Given the description of an element on the screen output the (x, y) to click on. 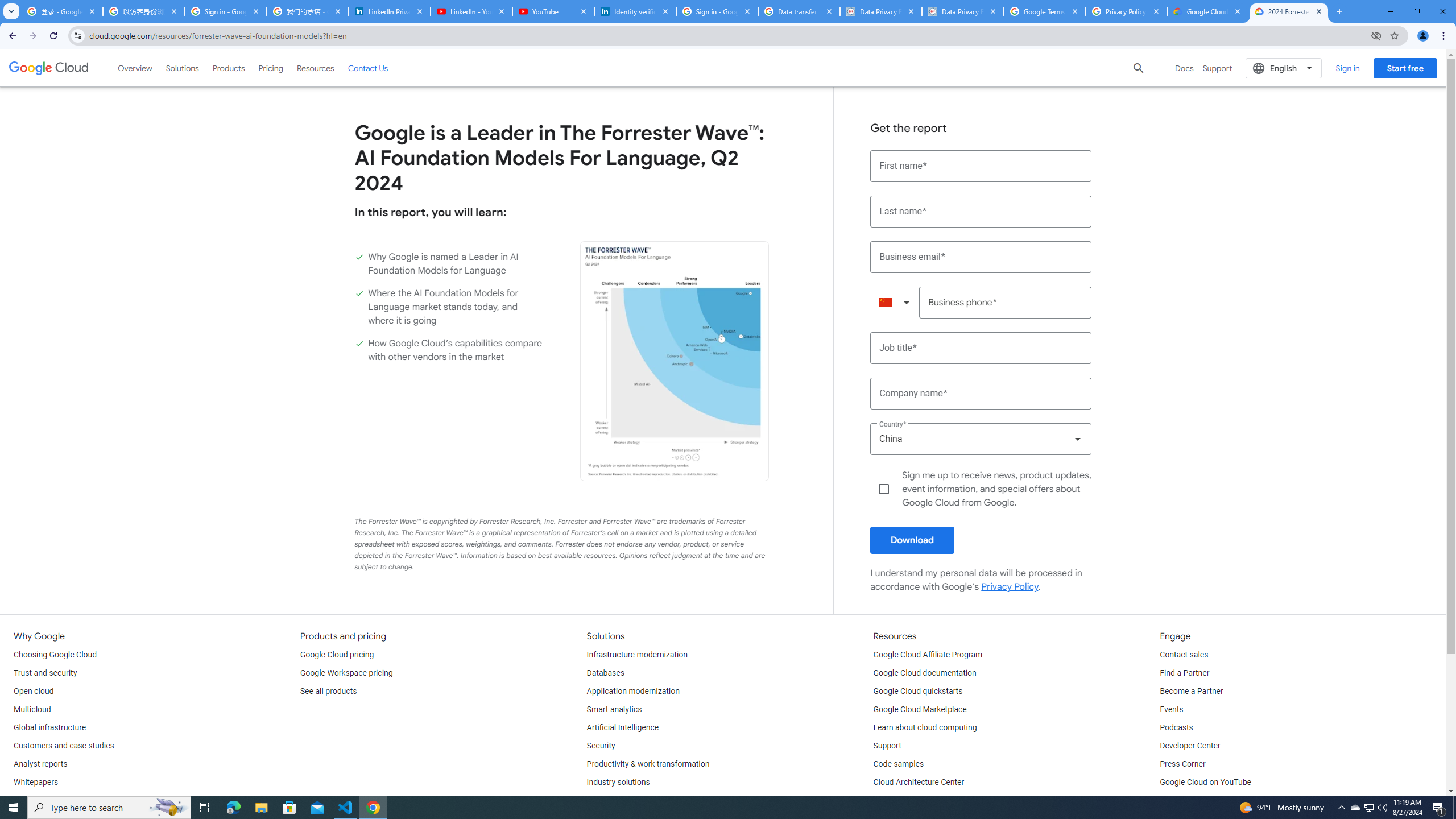
Company name* (981, 393)
Contact Us (368, 67)
Press Corner (1181, 764)
Google Cloud on YouTube (1204, 782)
Job title* (981, 347)
LinkedIn - YouTube (470, 11)
Become a Partner (1190, 691)
Google Cloud Marketplace (919, 710)
Code samples (898, 764)
